Given the description of an element on the screen output the (x, y) to click on. 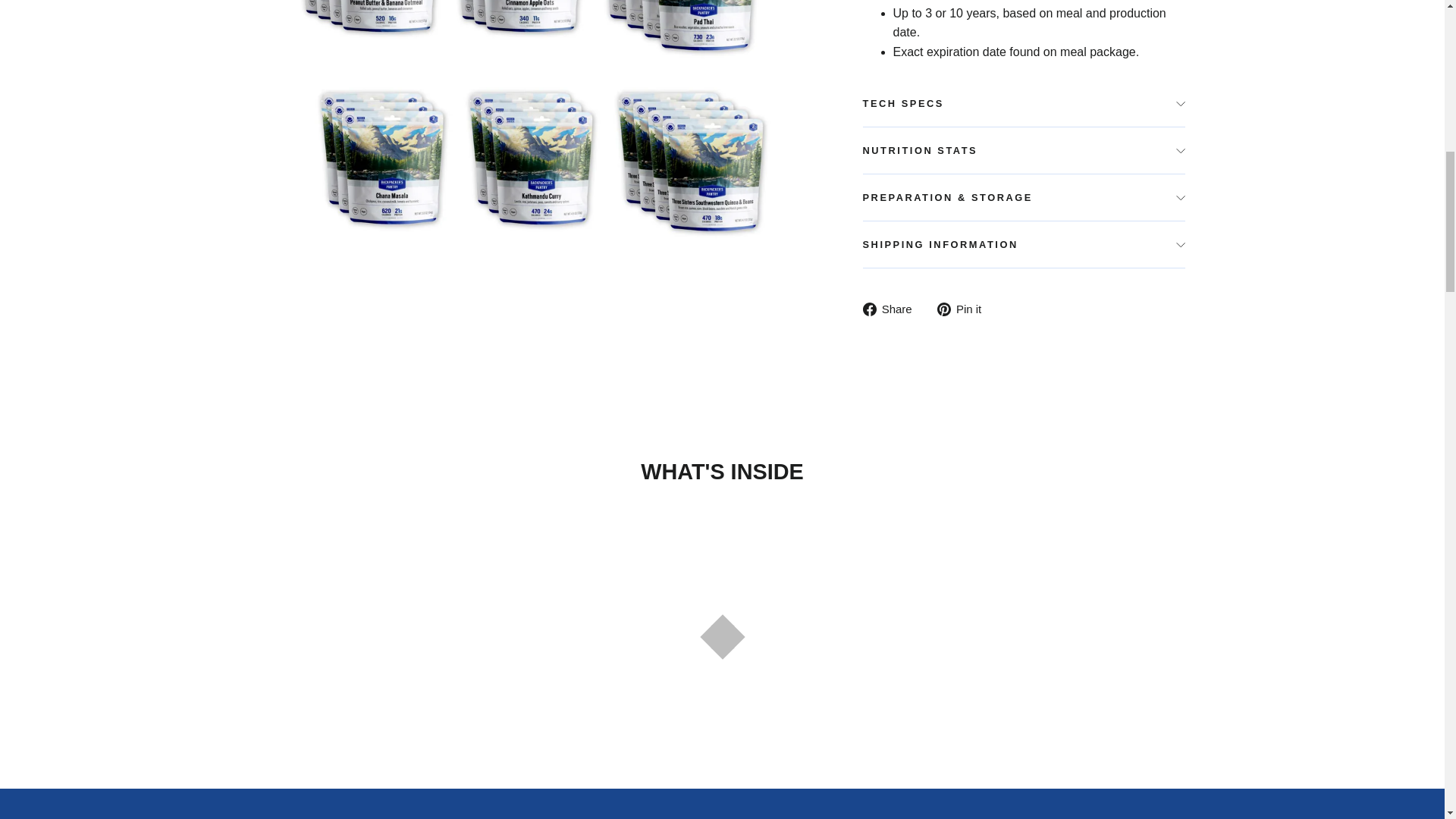
Pin on Pinterest (964, 308)
Share on Facebook (893, 308)
